Given the description of an element on the screen output the (x, y) to click on. 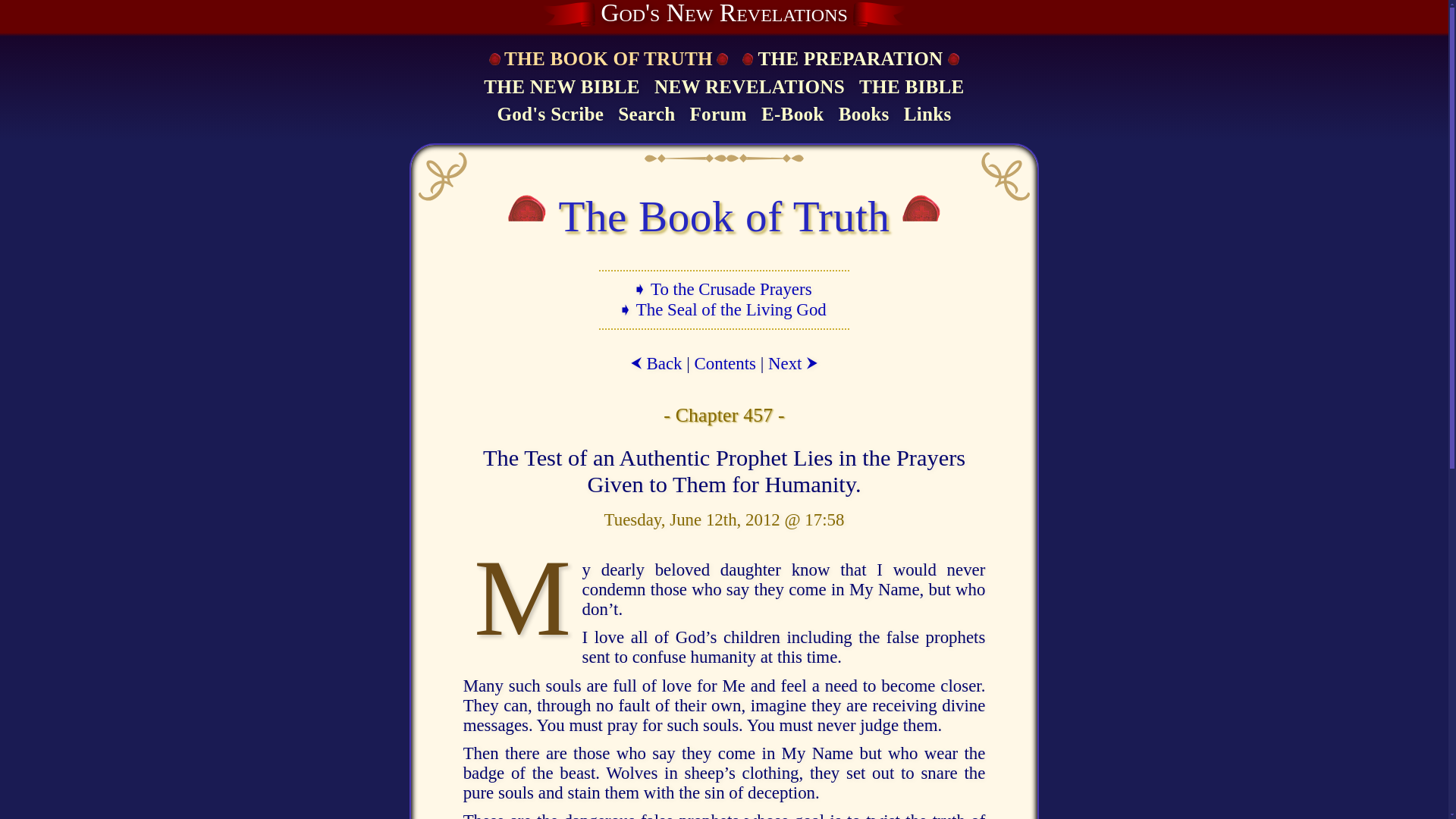
E-Book (792, 114)
THE BIBLE (912, 87)
God's New Revelations (723, 14)
Contents (724, 363)
Search (646, 114)
THE NEW BIBLE (561, 87)
Books (863, 114)
Links (927, 114)
God's Scribe (550, 114)
Forum (717, 114)
THE BOOK OF TRUTH (607, 59)
NEW REVELATIONS (749, 87)
